Given the description of an element on the screen output the (x, y) to click on. 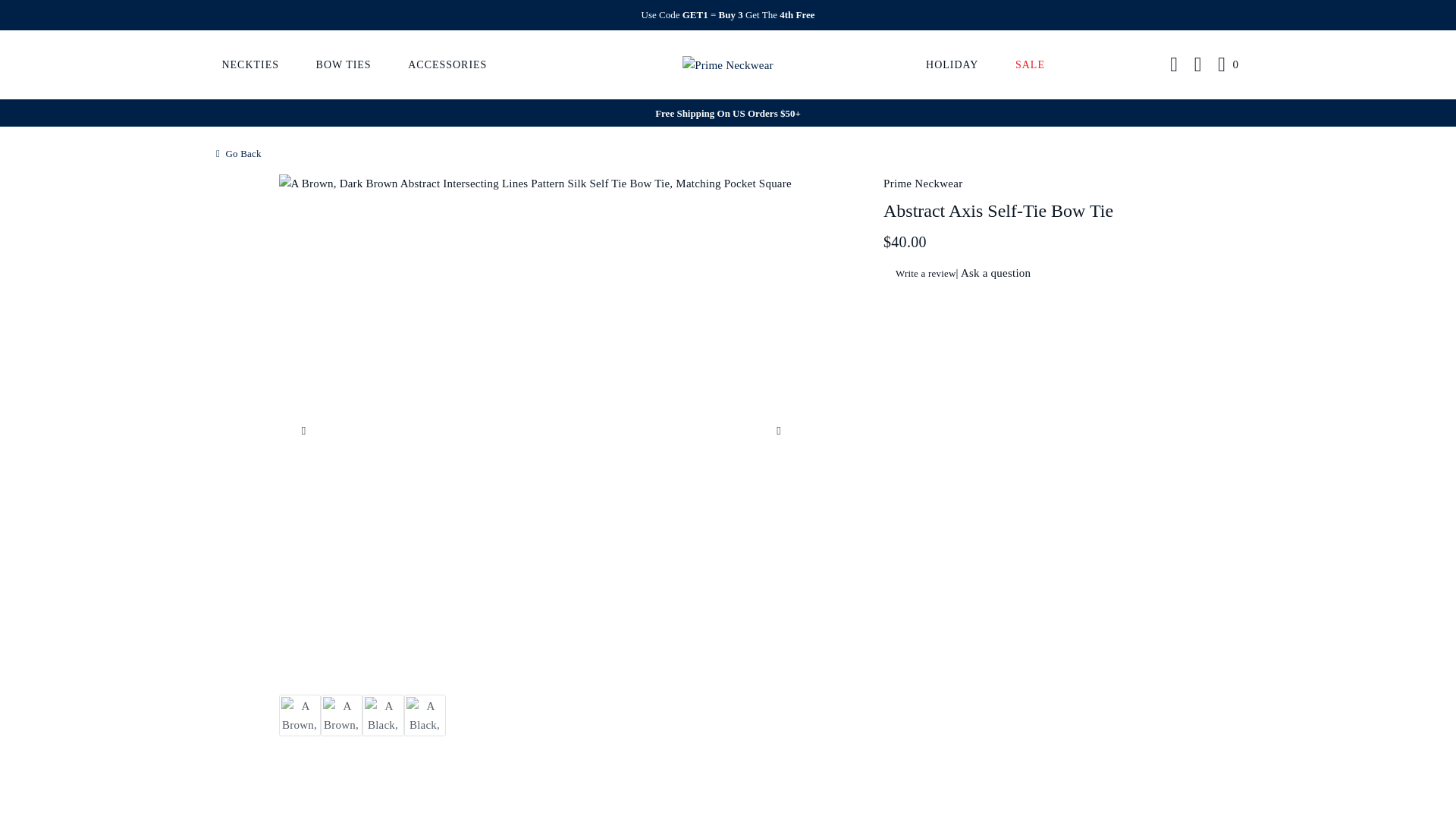
Holiday (952, 64)
Neckties (250, 64)
cart (1228, 64)
Bow Ties (343, 64)
Accessories (448, 64)
BOW TIES (343, 64)
NECKTIES (250, 64)
Prime Neckwear (727, 64)
